Given the description of an element on the screen output the (x, y) to click on. 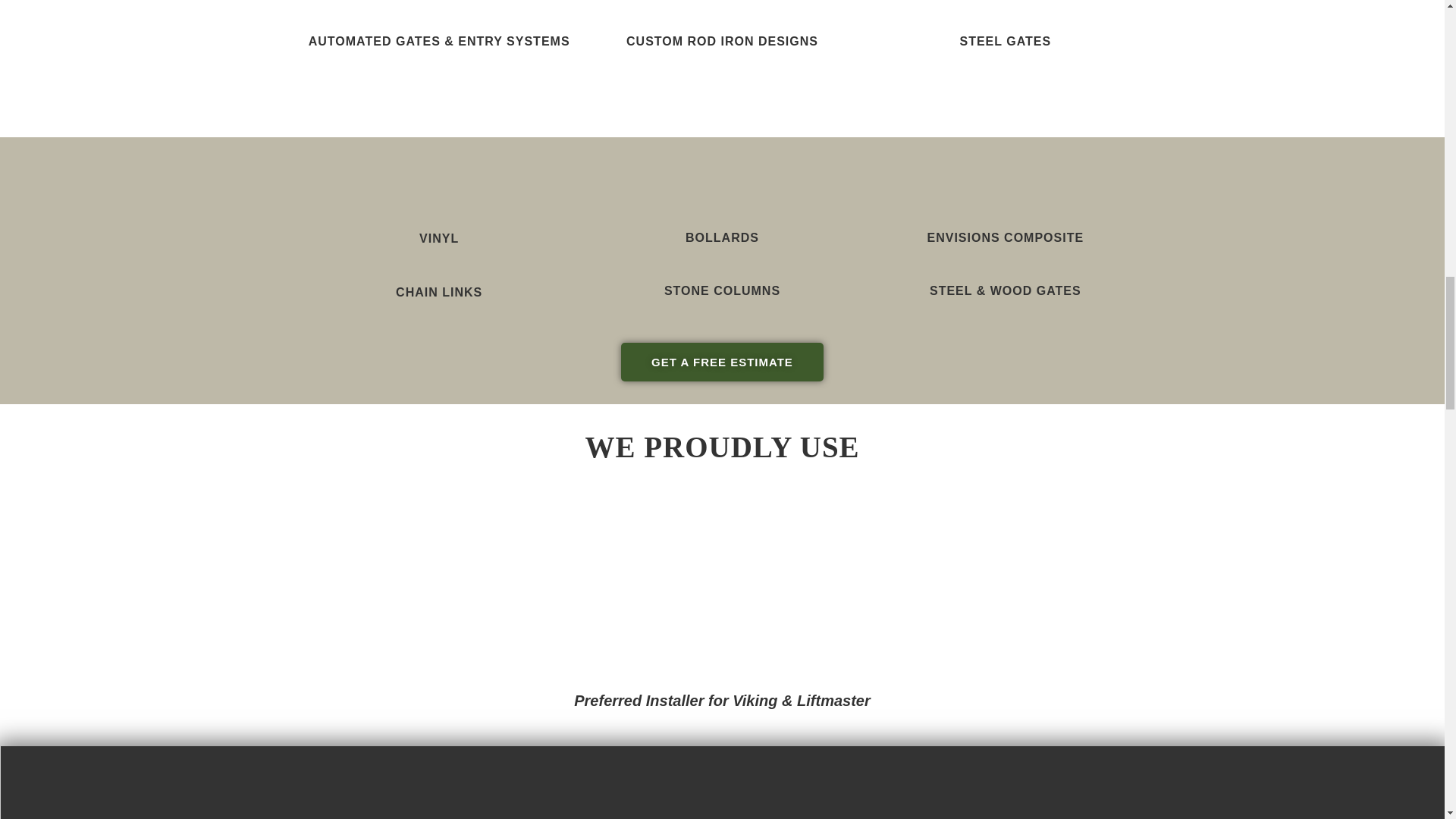
STONE COLUMNS (721, 290)
GET A FREE ESTIMATE (722, 362)
CUSTOM ROD IRON DESIGNS (722, 41)
VINYL (438, 237)
BOLLARDS (721, 237)
ENVISIONS COMPOSITE (1005, 237)
STEEL GATES (1005, 41)
